Given the description of an element on the screen output the (x, y) to click on. 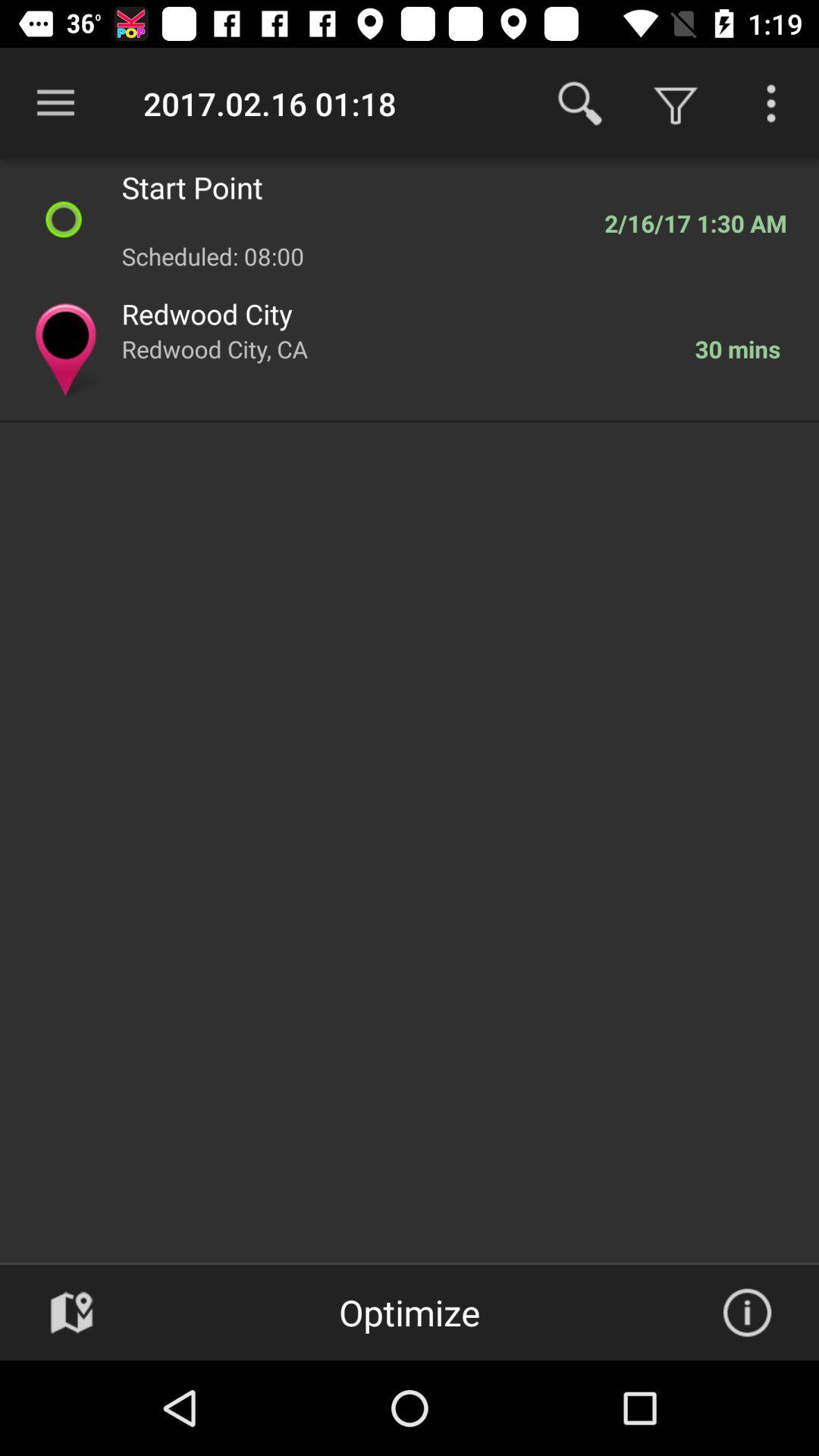
info box (747, 1312)
